Given the description of an element on the screen output the (x, y) to click on. 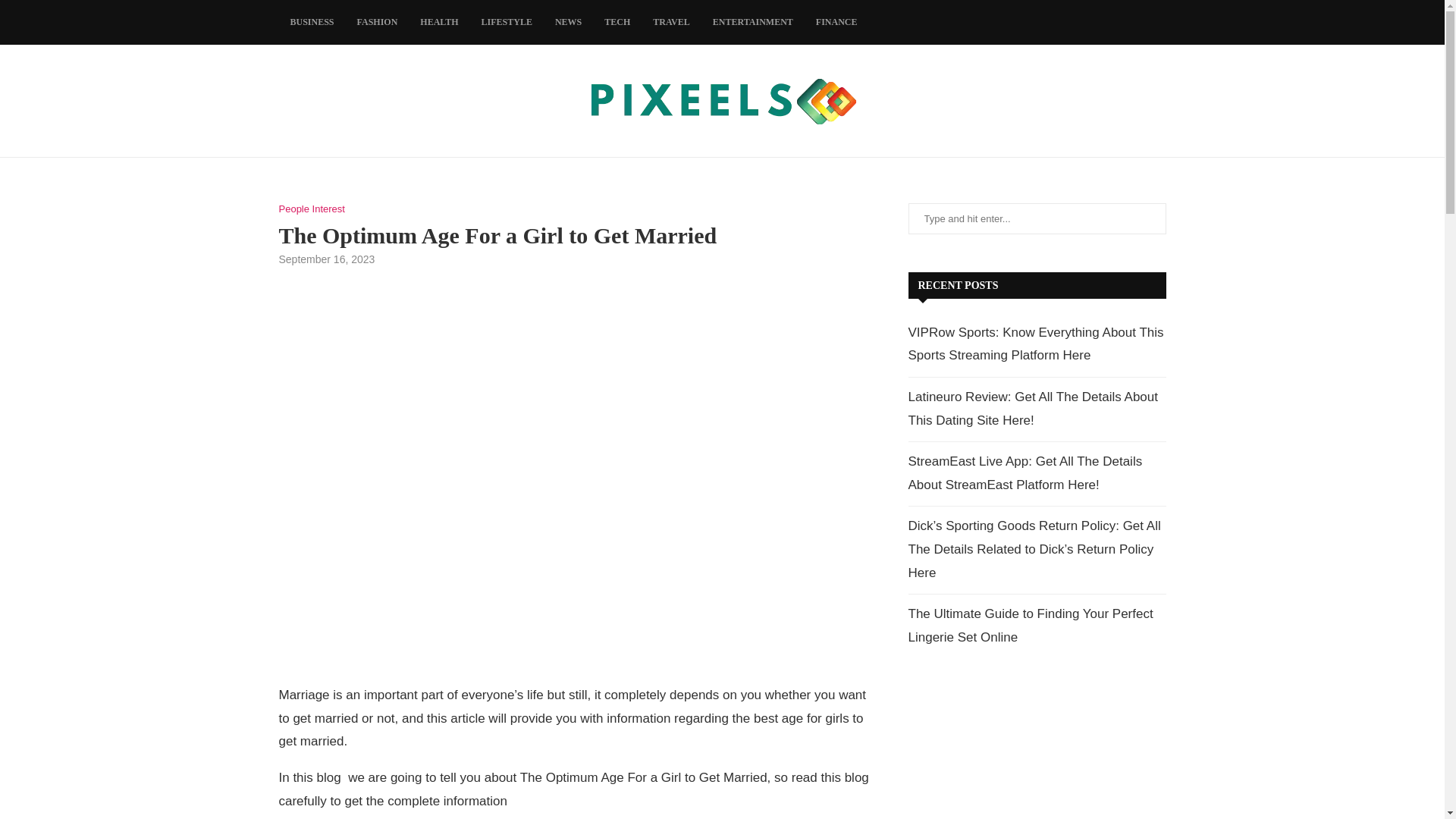
LIFESTYLE (506, 22)
TRAVEL (671, 22)
TECH (617, 22)
BUSINESS (312, 22)
FINANCE (837, 22)
Search (128, 15)
NEWS (567, 22)
ENTERTAINMENT (753, 22)
FASHION (377, 22)
HEALTH (438, 22)
